Given the description of an element on the screen output the (x, y) to click on. 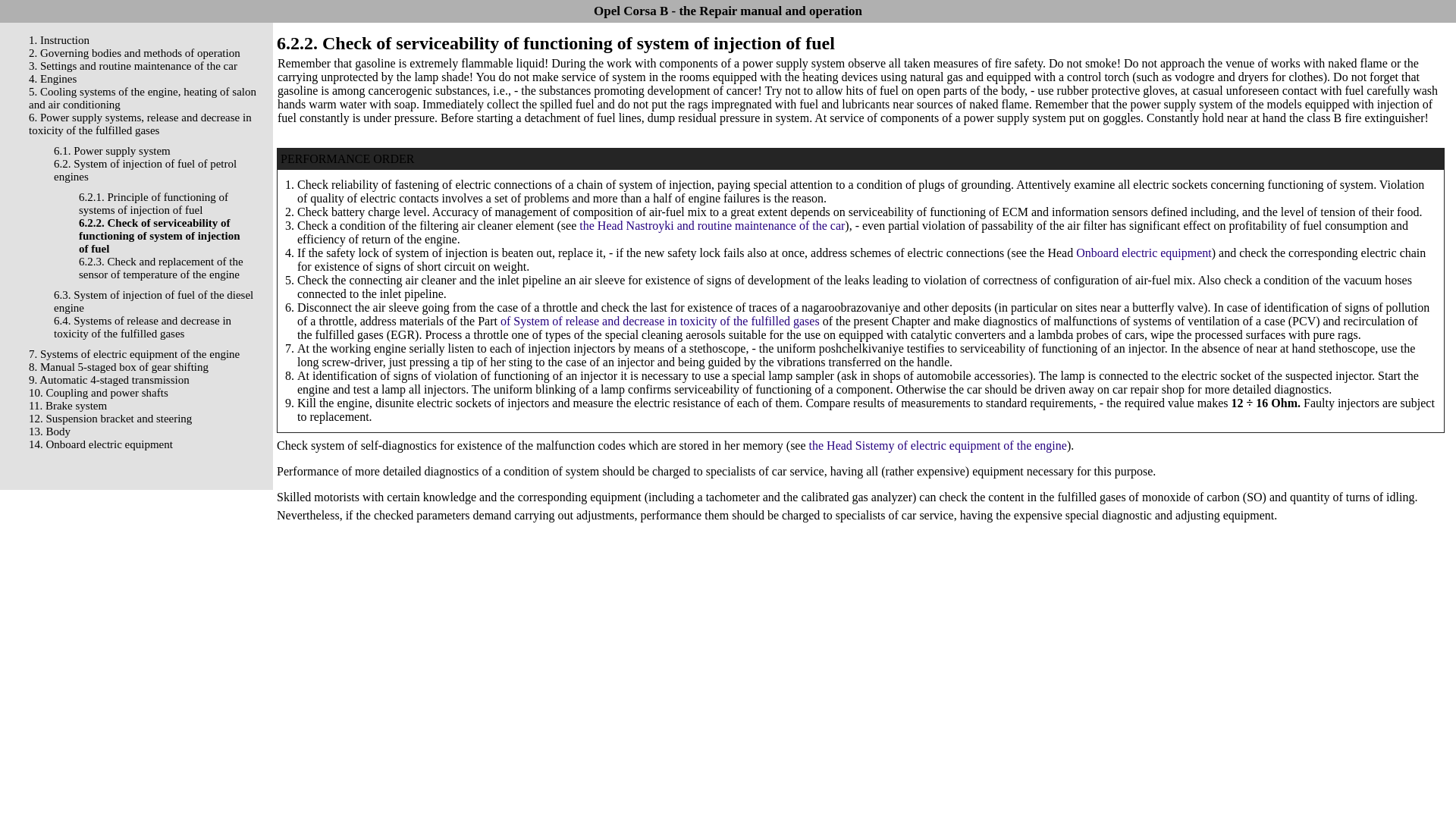
6.2. System of injection of fuel of petrol engines (144, 170)
12. Suspension bracket and steering (110, 418)
13. Body (49, 431)
1. Instruction (58, 39)
3. Settings and routine maintenance of the car (133, 65)
6.3. System of injection of fuel of the diesel engine (153, 301)
the Head Nastroyki and routine maintenance of the car (711, 225)
14. Onboard electric equipment (101, 444)
4. Engines (53, 78)
11. Brake system (67, 405)
